Given the description of an element on the screen output the (x, y) to click on. 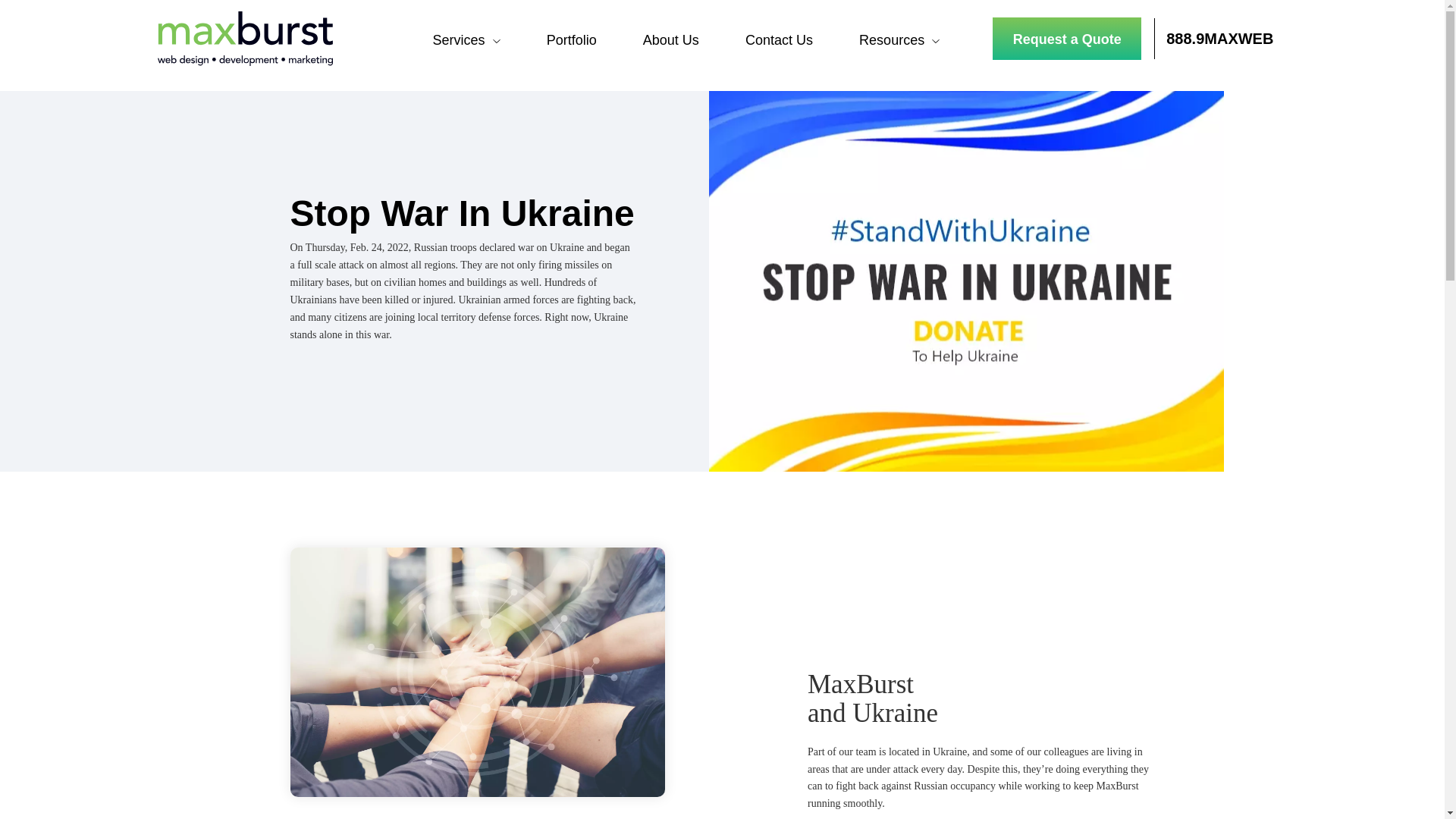
Contact Us (778, 39)
Resources (891, 39)
Request a Quote (1066, 38)
Services (458, 39)
About Us (670, 39)
Portfolio (571, 39)
888.9MAXWEB (1219, 38)
